Given the description of an element on the screen output the (x, y) to click on. 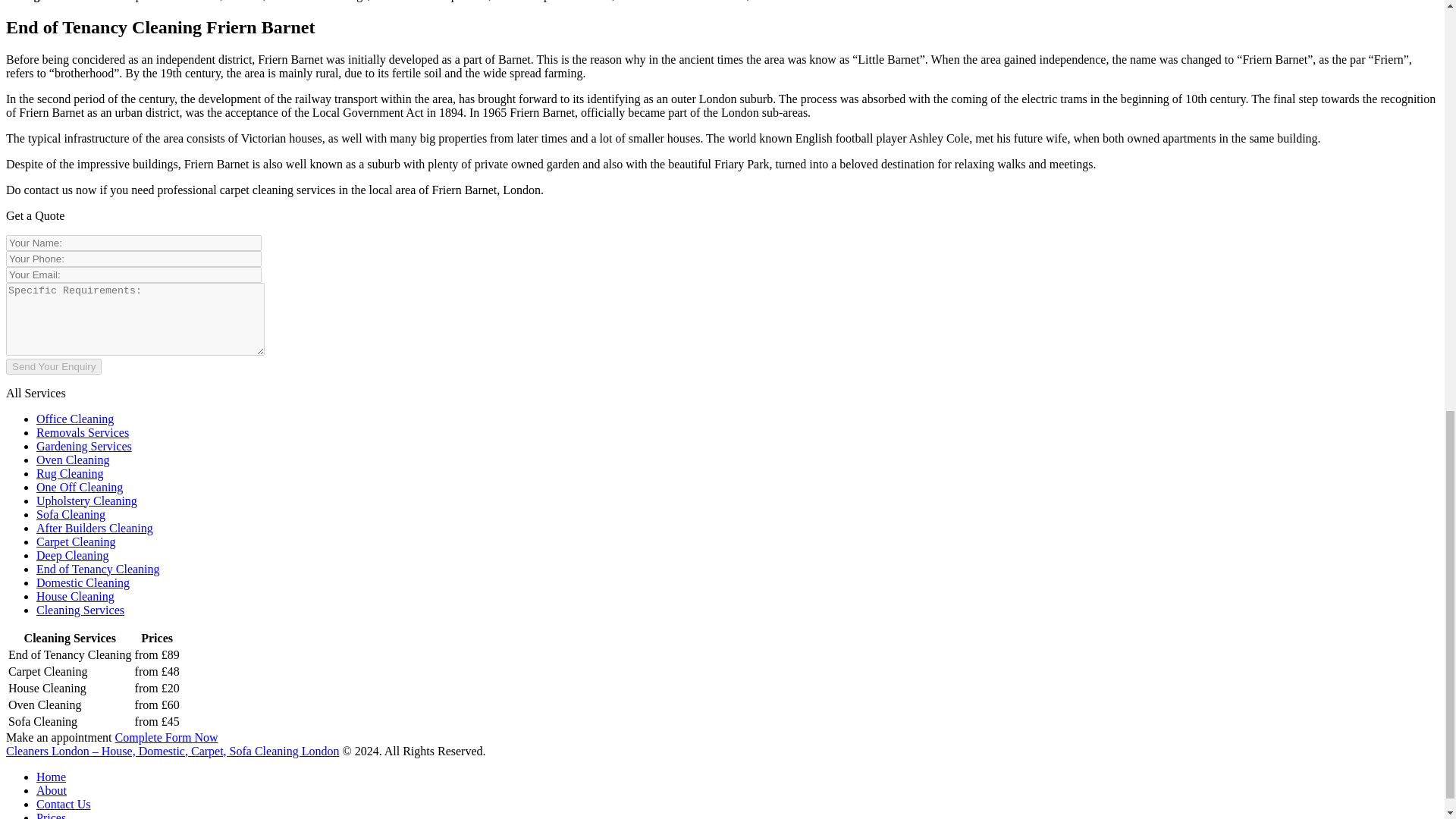
Oven Cleaning (72, 459)
Rug Cleaning (69, 472)
Gardening Services (84, 445)
One Off Cleaning (79, 486)
House Cleaning (75, 595)
Complete Form Now (166, 737)
End of Tenancy Cleaning (98, 568)
After Builders Cleaning (94, 527)
About (51, 789)
Contact Us (63, 803)
